Given the description of an element on the screen output the (x, y) to click on. 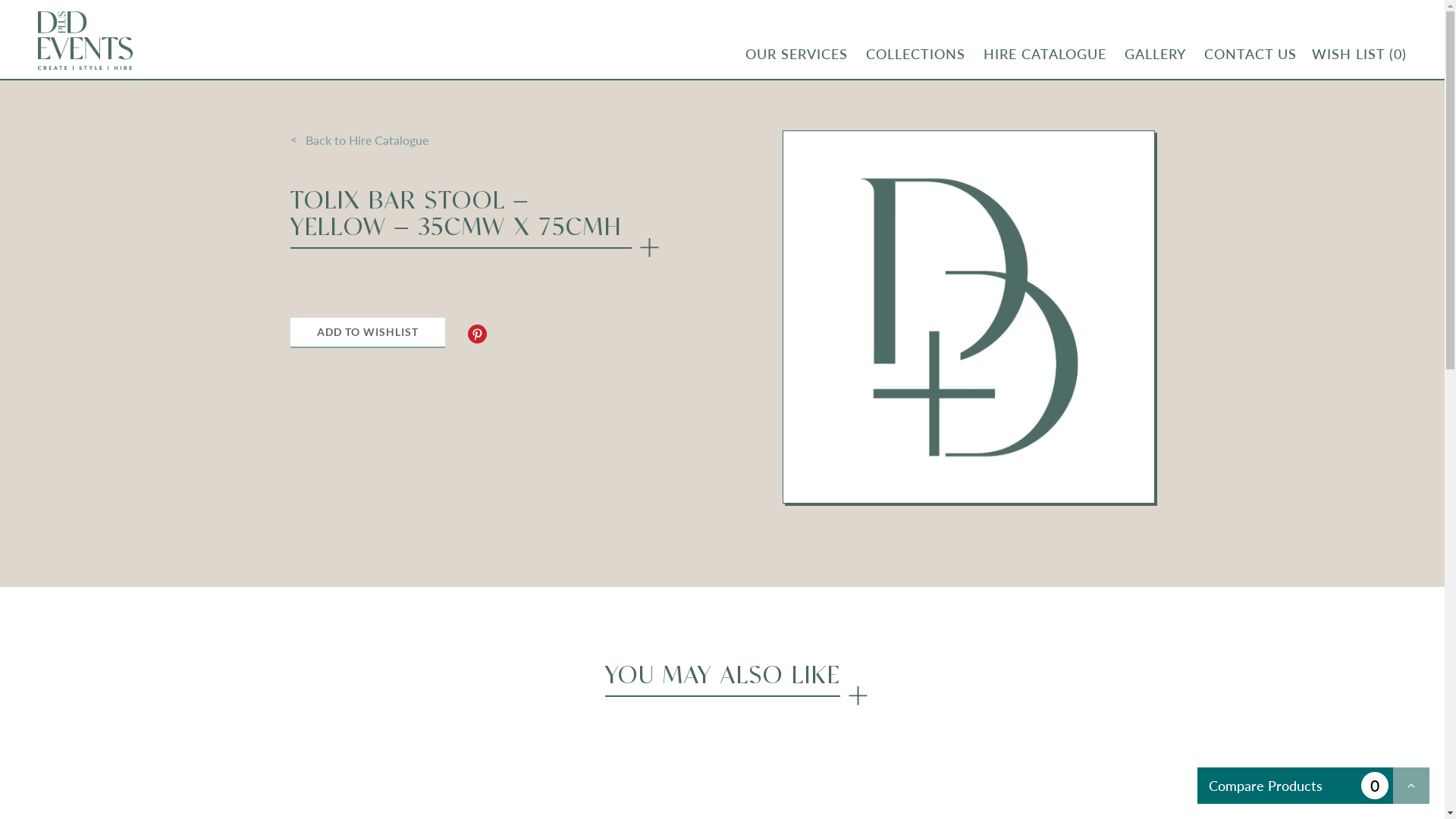
CONTACT US Element type: text (1250, 53)
HIRE CATALOGUE Element type: text (1044, 53)
Back to Hire Catalogue Element type: text (475, 140)
GALLERY Element type: text (1155, 53)
COLLECTIONS Element type: text (915, 53)
ADD TO WISHLIST Element type: text (366, 332)
WISH LIST (0) Element type: text (1358, 53)
OUR SERVICES Element type: text (796, 53)
